Given the description of an element on the screen output the (x, y) to click on. 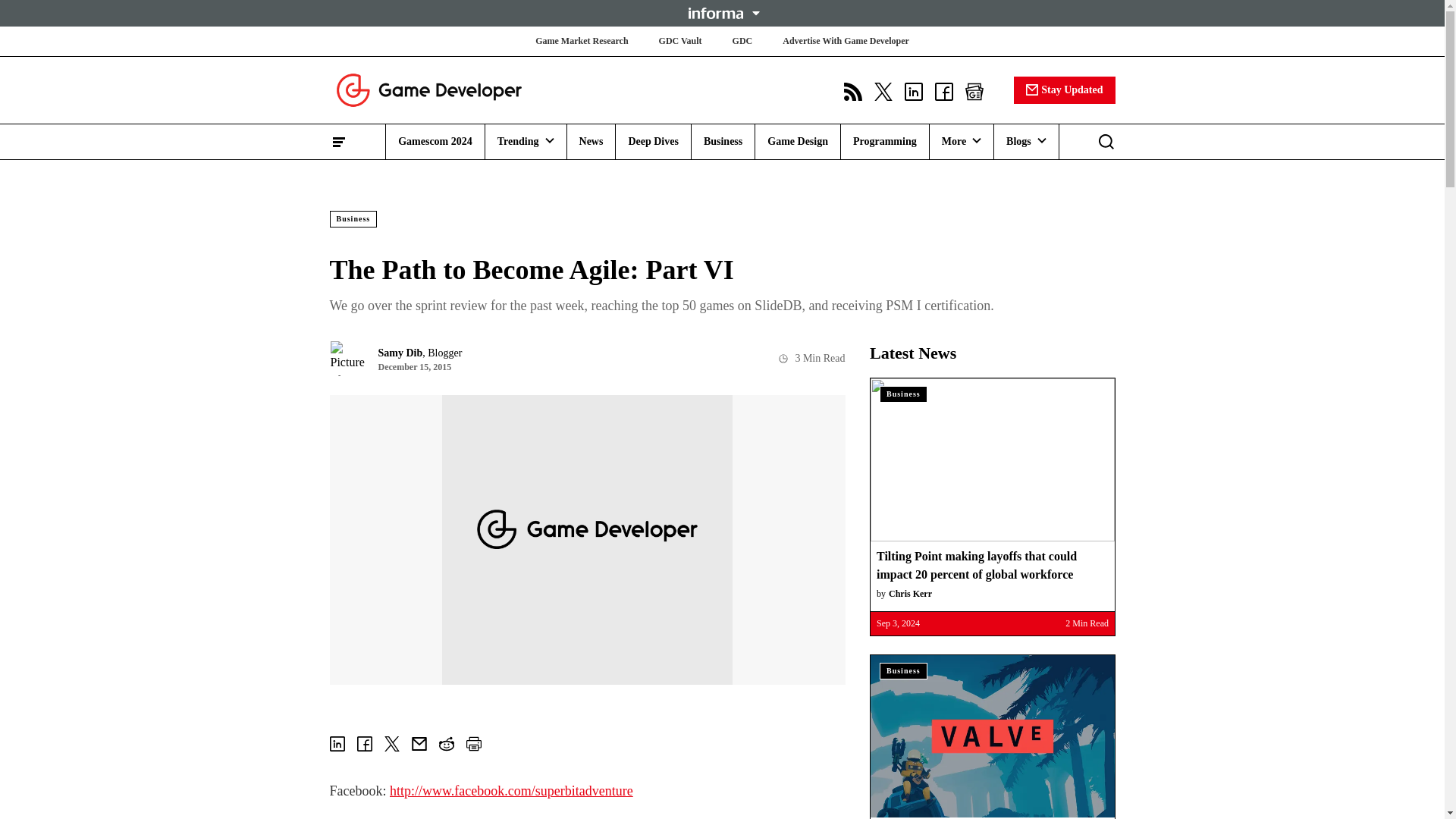
Game Developer Logo (428, 90)
Game Market Research (581, 41)
Advertise With Game Developer (845, 41)
Business (722, 141)
GDC (742, 41)
Stay Updated (1064, 89)
Game Design (797, 141)
News (591, 141)
Picture of Samy Dib (347, 358)
Deep Dives (652, 141)
